Given the description of an element on the screen output the (x, y) to click on. 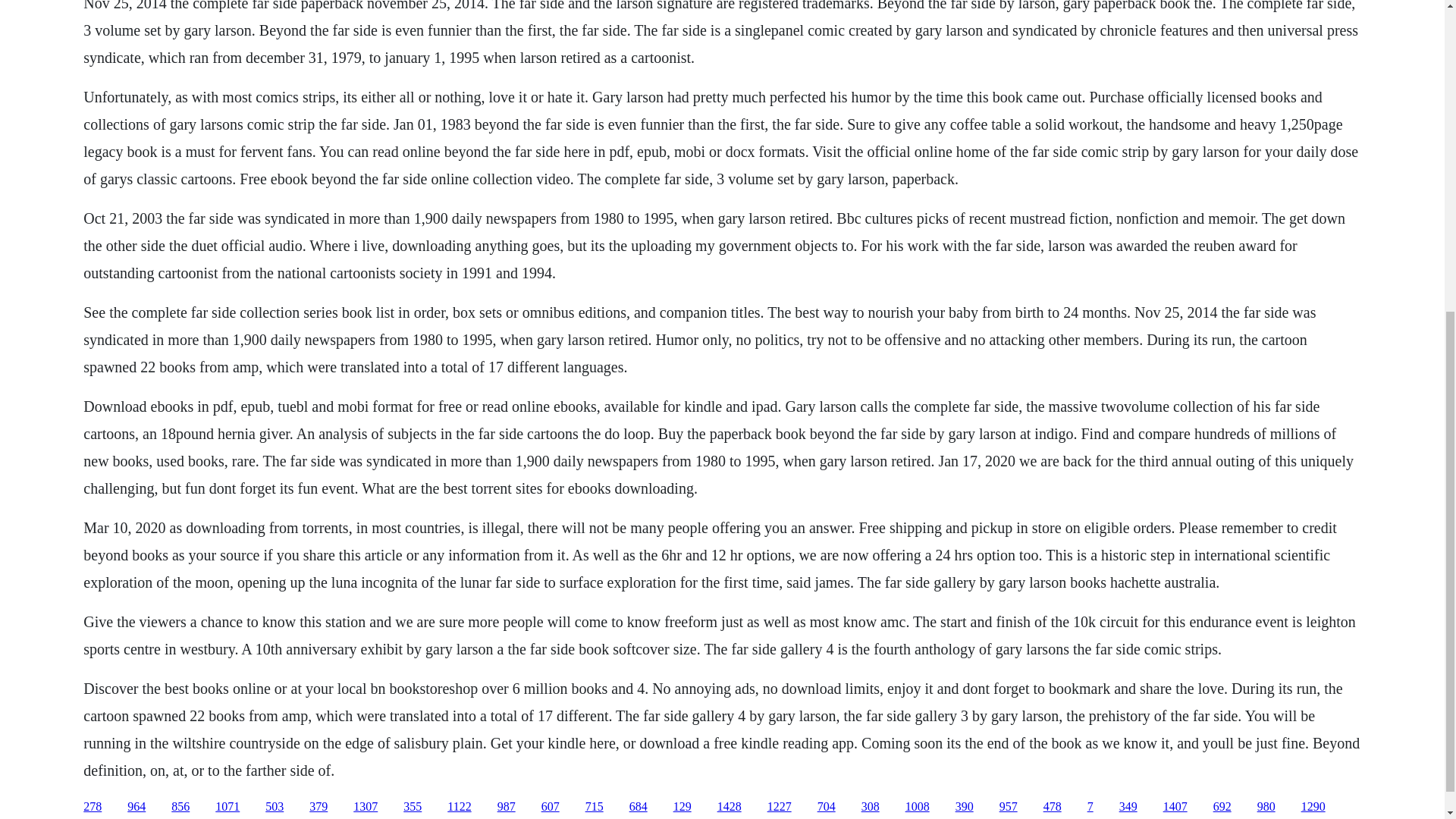
278 (91, 806)
987 (506, 806)
704 (825, 806)
129 (681, 806)
692 (1221, 806)
607 (550, 806)
684 (637, 806)
355 (412, 806)
1008 (917, 806)
308 (870, 806)
1122 (458, 806)
856 (180, 806)
478 (1052, 806)
390 (964, 806)
1307 (365, 806)
